Given the description of an element on the screen output the (x, y) to click on. 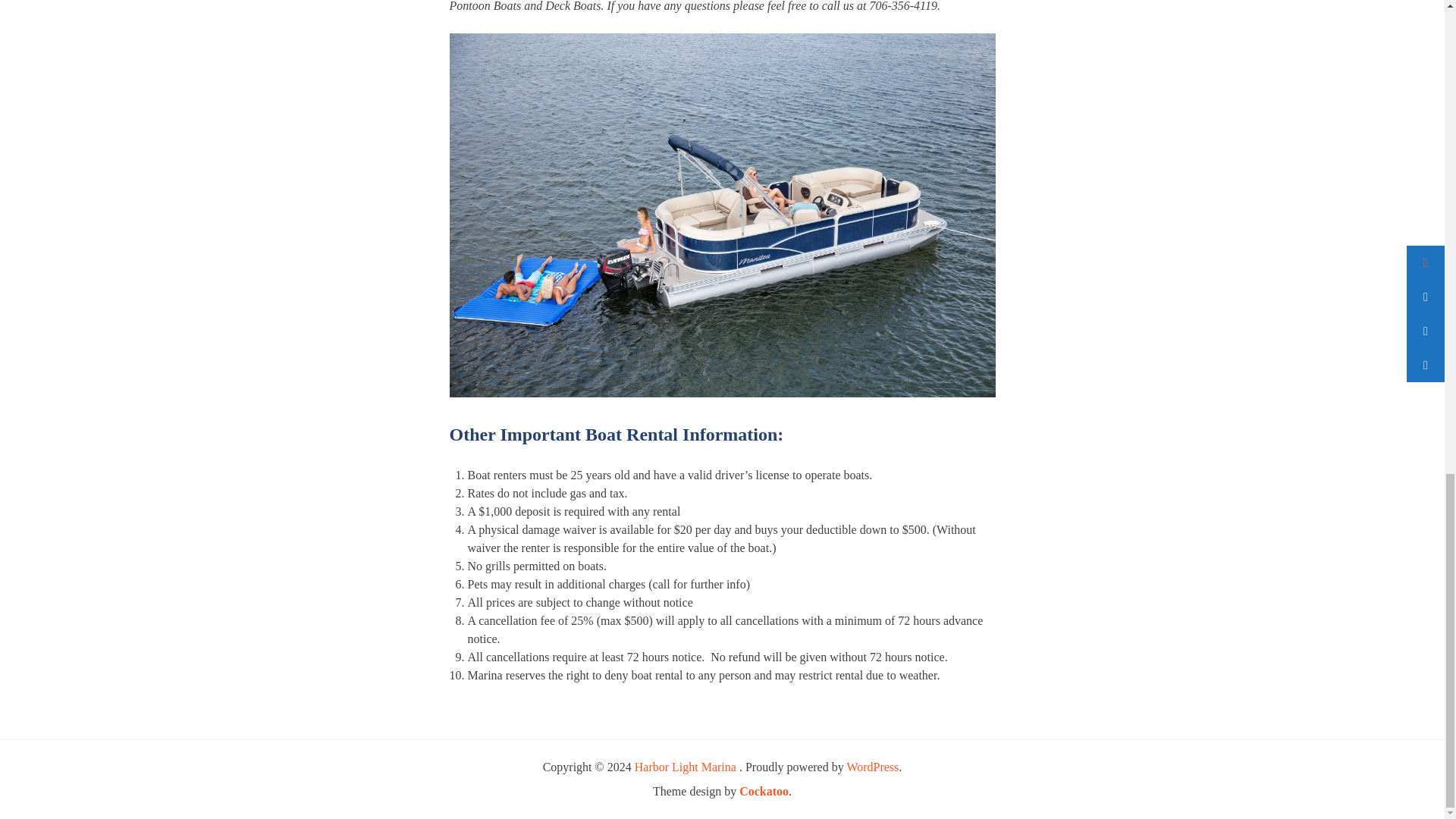
WordPress (871, 766)
Harbor Light Marina (686, 766)
Cockatoo (764, 790)
